Given the description of an element on the screen output the (x, y) to click on. 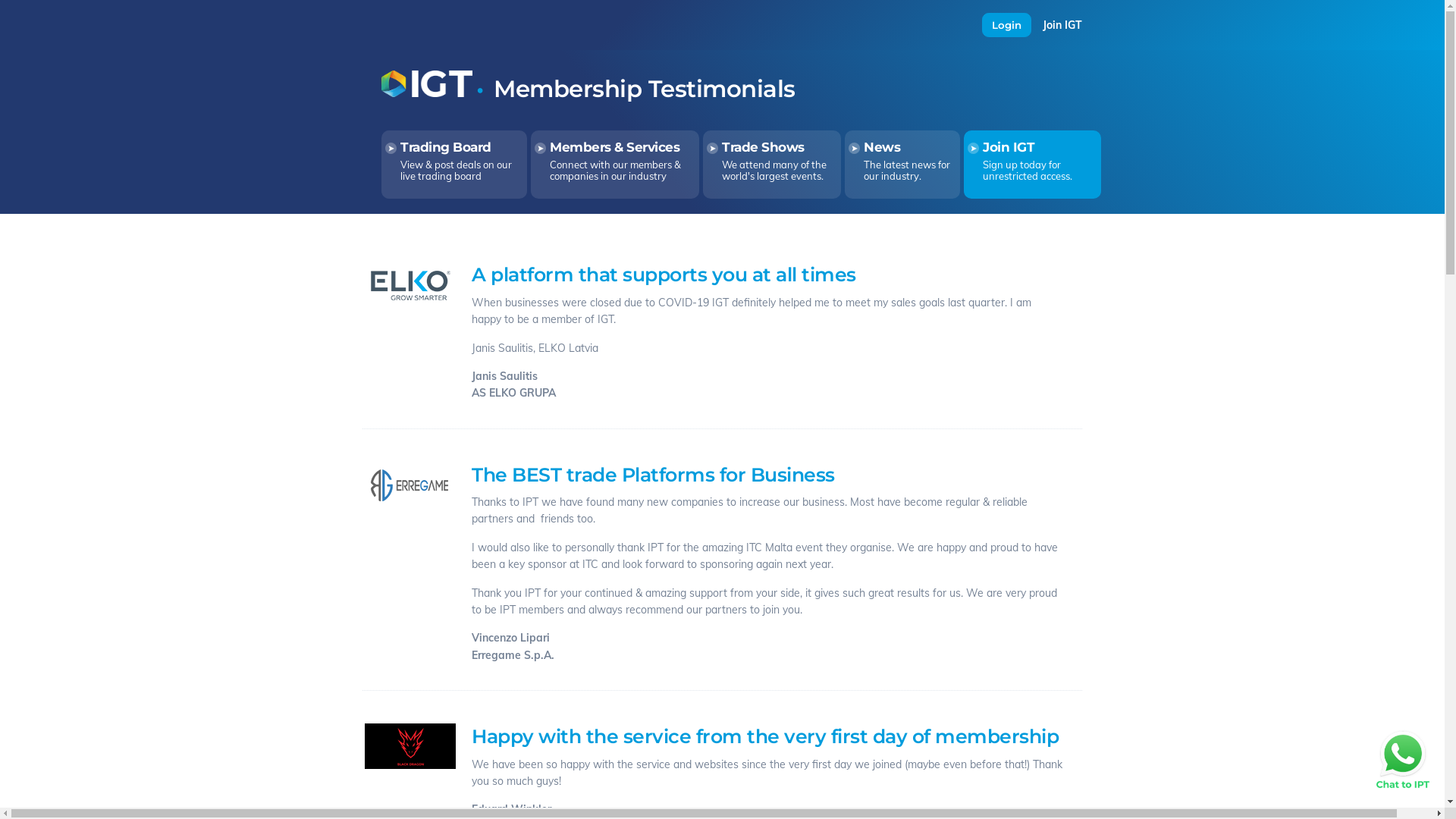
Join IGT
Sign up today for unrestricted access. Element type: text (1032, 164)
Join IGT Element type: text (1062, 24)
Login Element type: text (1006, 24)
Trading Board
View & post deals on our live trading board Element type: text (454, 164)
Trade Shows
We attend many of the world's largest events. Element type: text (771, 164)
Chat to IPT Today Element type: hover (1402, 760)
News
The latest news for our industry. Element type: text (902, 164)
Return to the Home Page Element type: hover (426, 93)
